Given the description of an element on the screen output the (x, y) to click on. 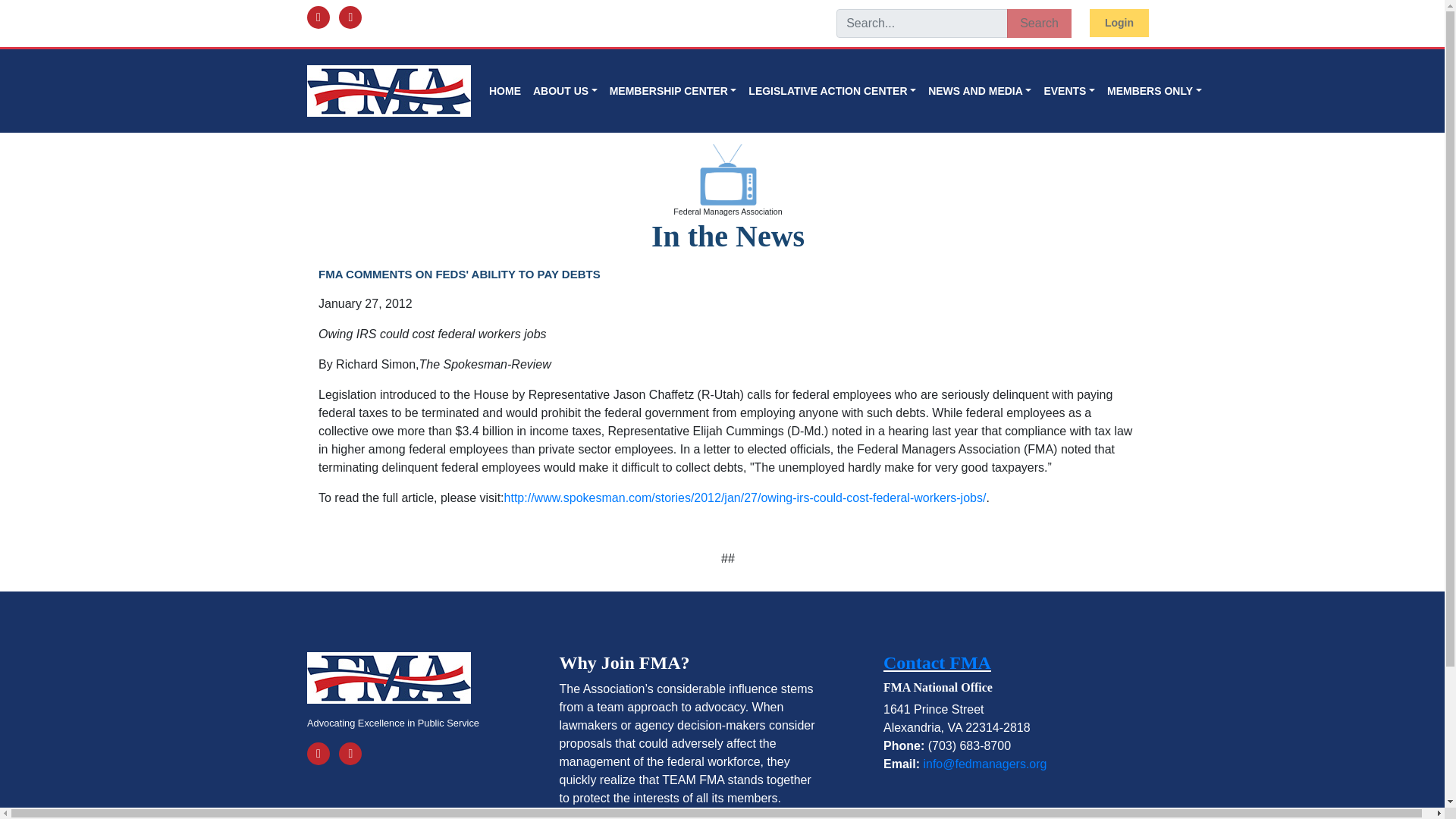
ABOUT US (565, 90)
Login (1118, 22)
Search (1039, 23)
HOME (505, 90)
MEMBERSHIP CENTER (673, 90)
LEGISLATIVE ACTION CENTER (831, 90)
